Given the description of an element on the screen output the (x, y) to click on. 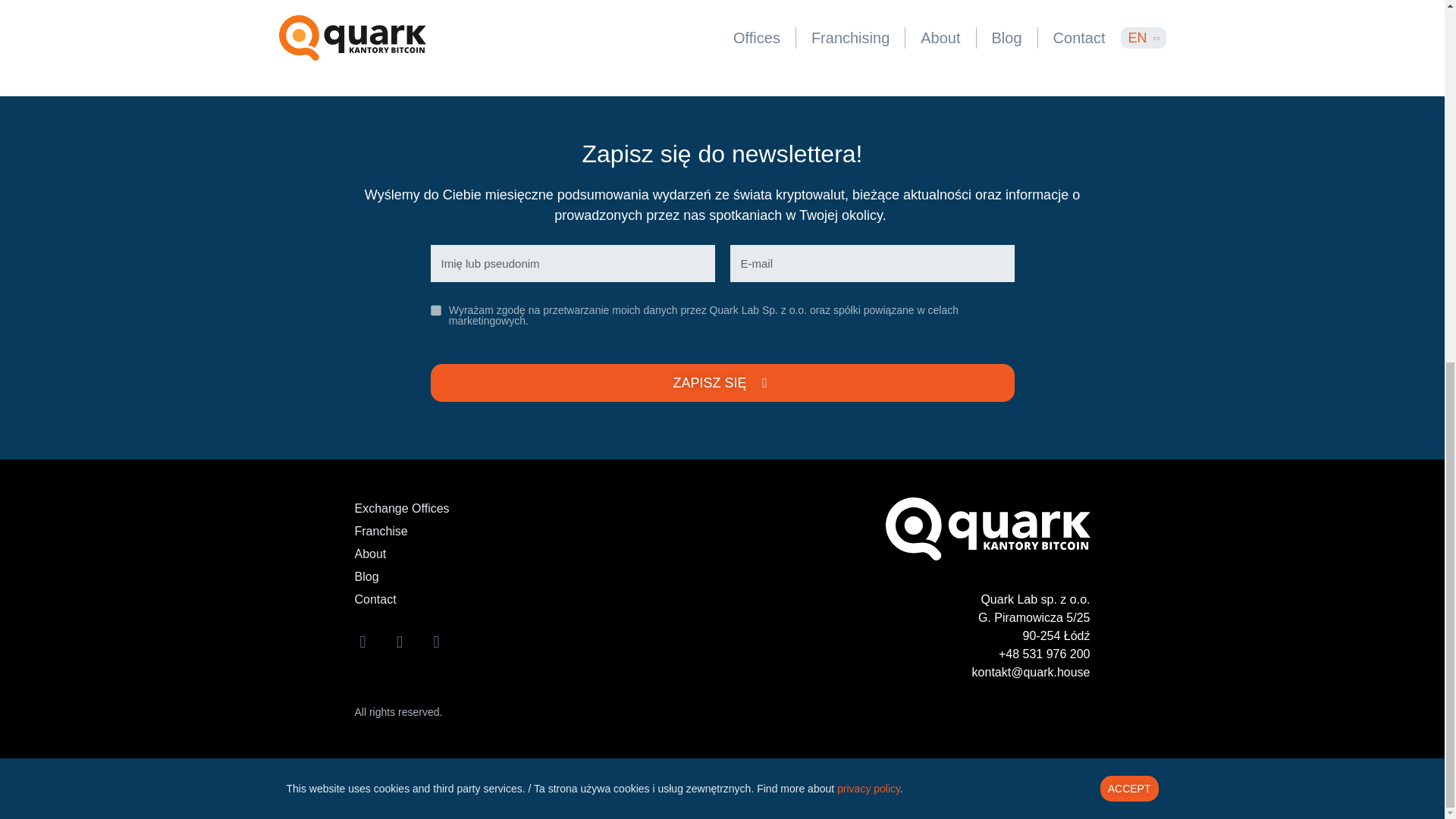
on (435, 310)
